Given the description of an element on the screen output the (x, y) to click on. 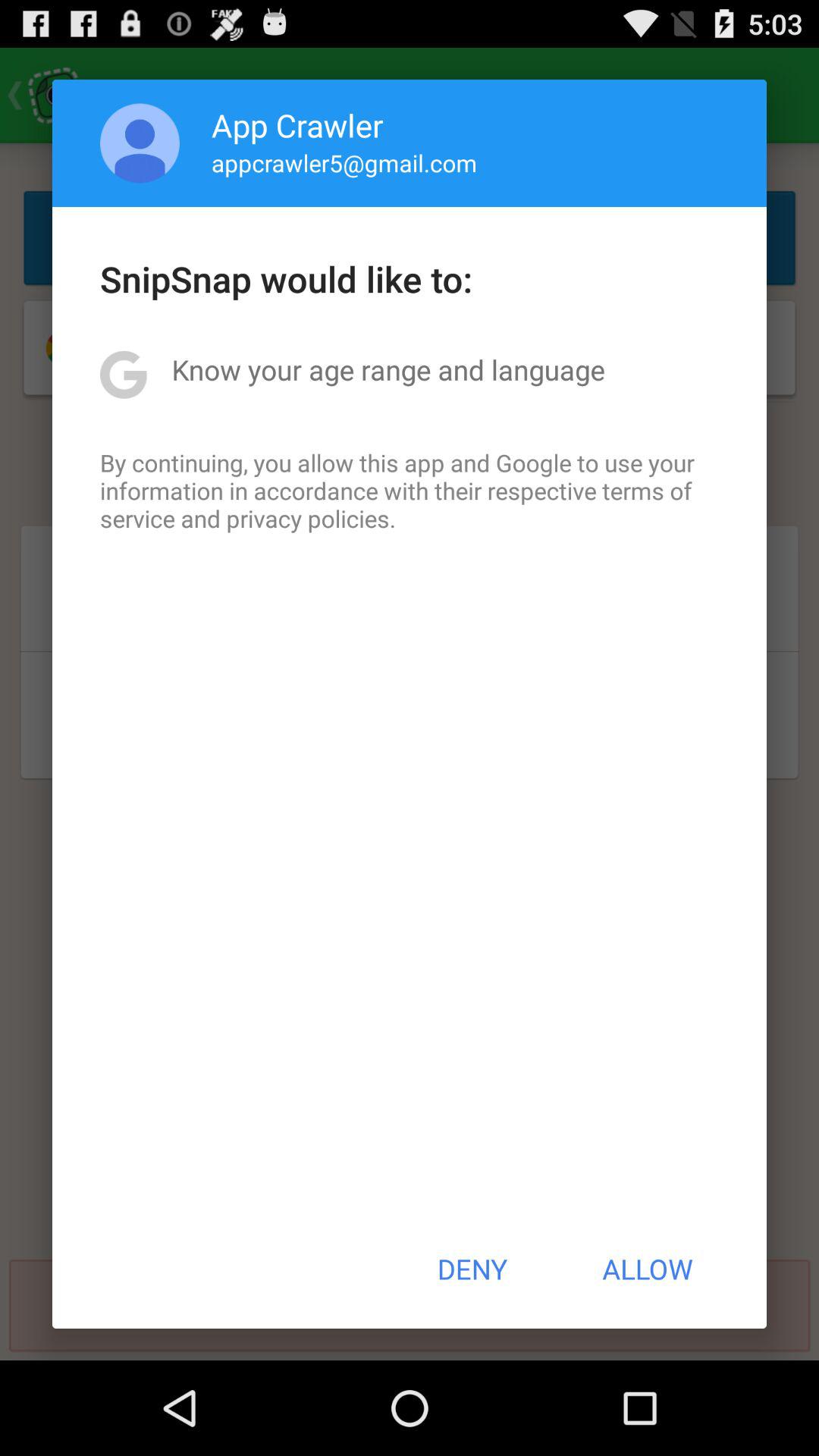
click appcrawler5@gmail.com item (344, 162)
